Given the description of an element on the screen output the (x, y) to click on. 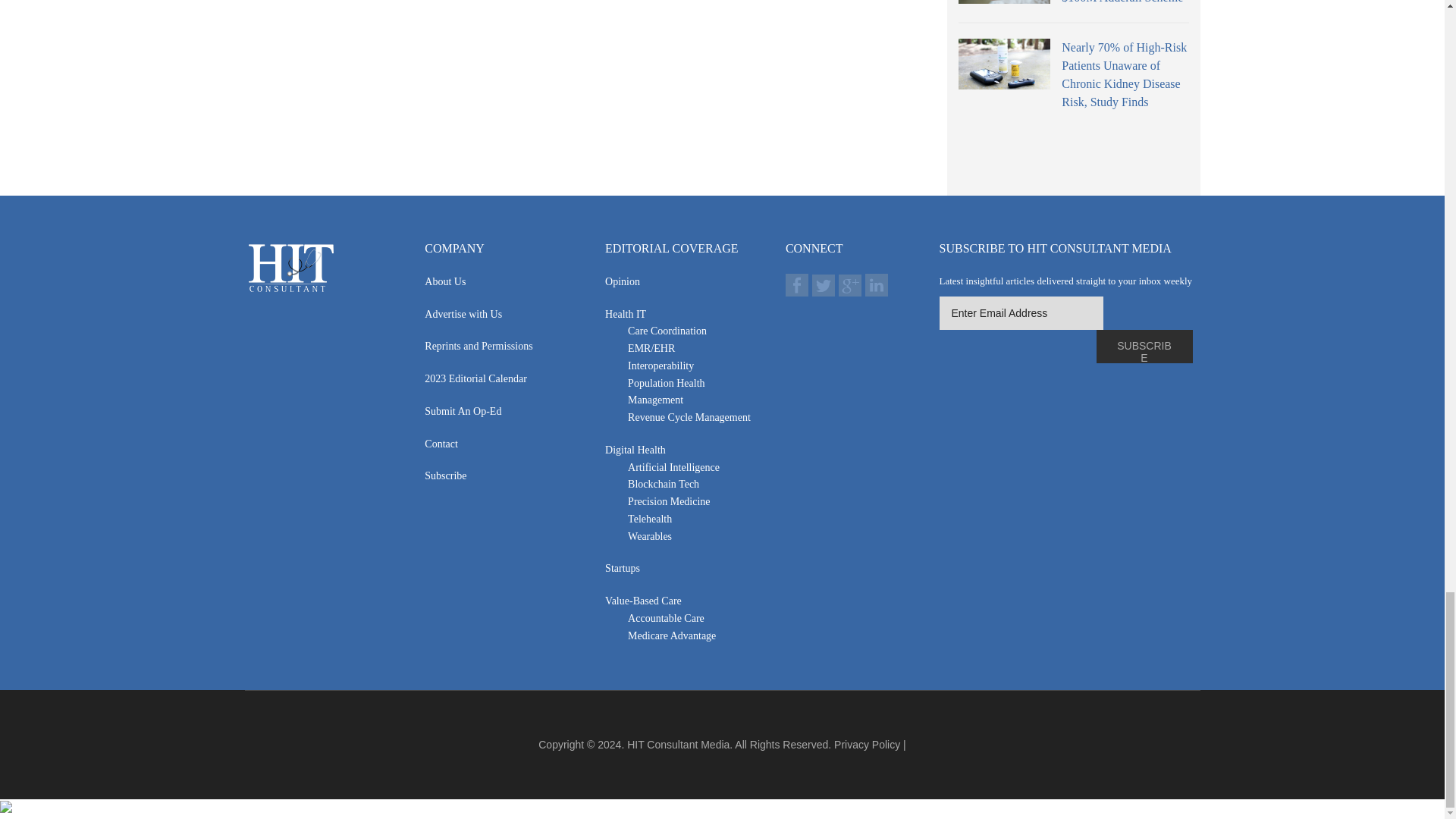
Subscribe (1144, 346)
